Given the description of an element on the screen output the (x, y) to click on. 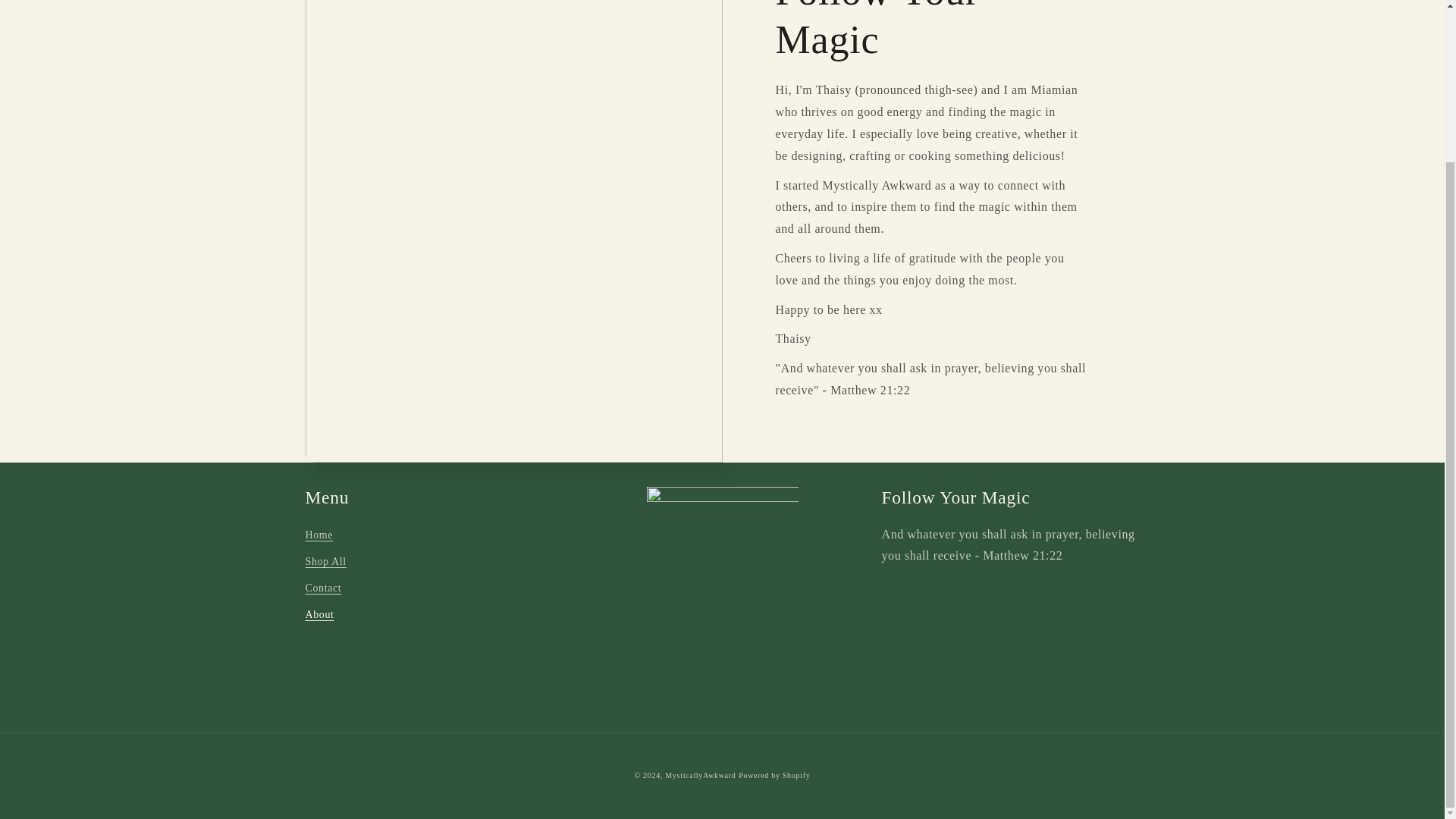
About (318, 614)
Home (318, 536)
Shop All (325, 560)
MysticallyAwkward (700, 775)
Powered by Shopify (773, 775)
Contact (322, 587)
